Given the description of an element on the screen output the (x, y) to click on. 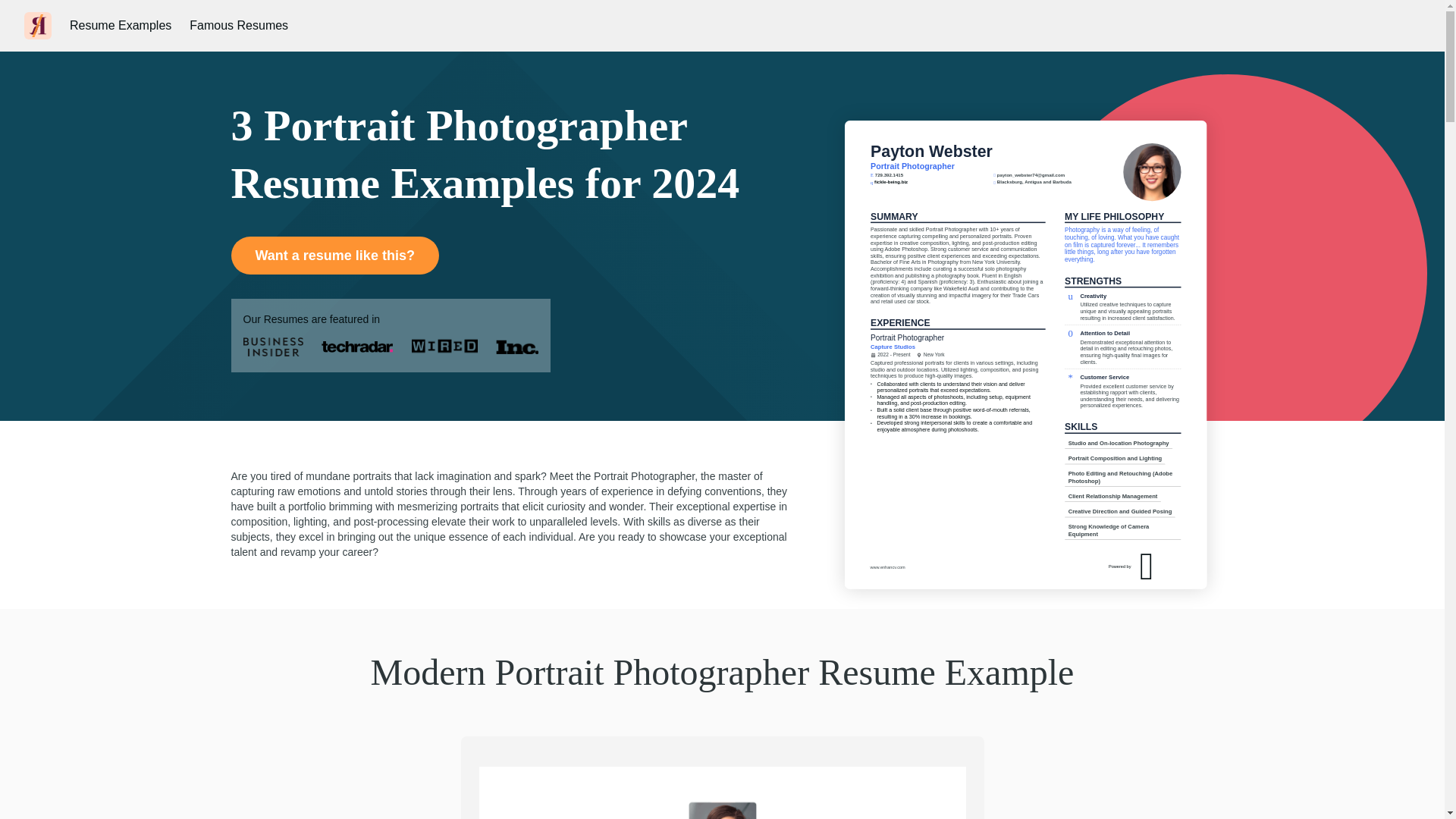
Want a resume like this? (334, 255)
fickle-being.biz (912, 184)
Powered by (1180, 570)
Resume Examples (120, 26)
Famous Resumes (238, 26)
